Given the description of an element on the screen output the (x, y) to click on. 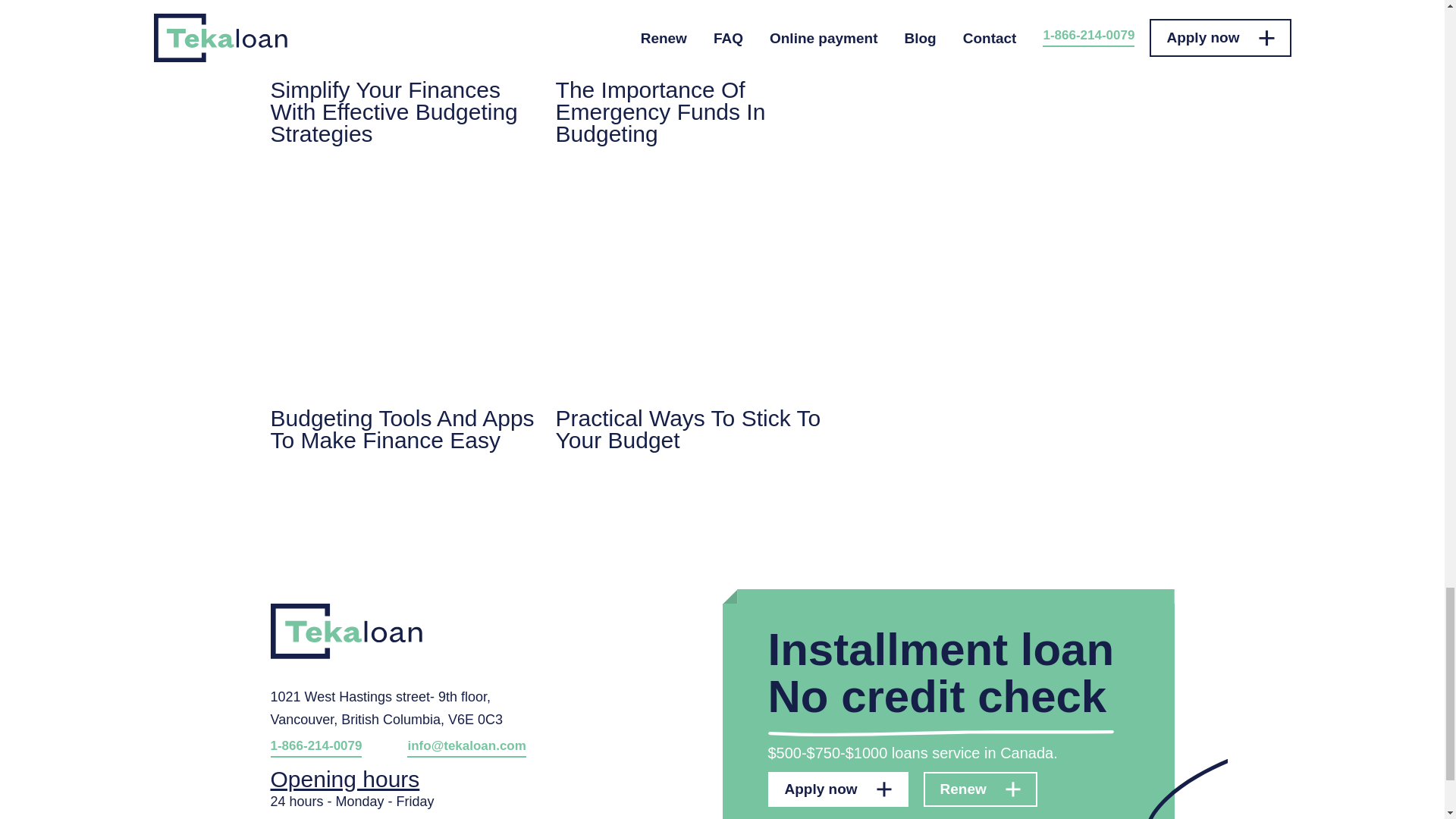
Budgeting Tools And Apps To Make Finance Easy (402, 317)
Simplify Your Finances With Effective Budgeting Strategies (402, 72)
Renew (979, 789)
Apply now (837, 789)
1-866-214-0079 (315, 748)
The Importance Of Emergency Funds In Budgeting (689, 72)
Practical Ways To Stick To Your Budget (689, 317)
